Given the description of an element on the screen output the (x, y) to click on. 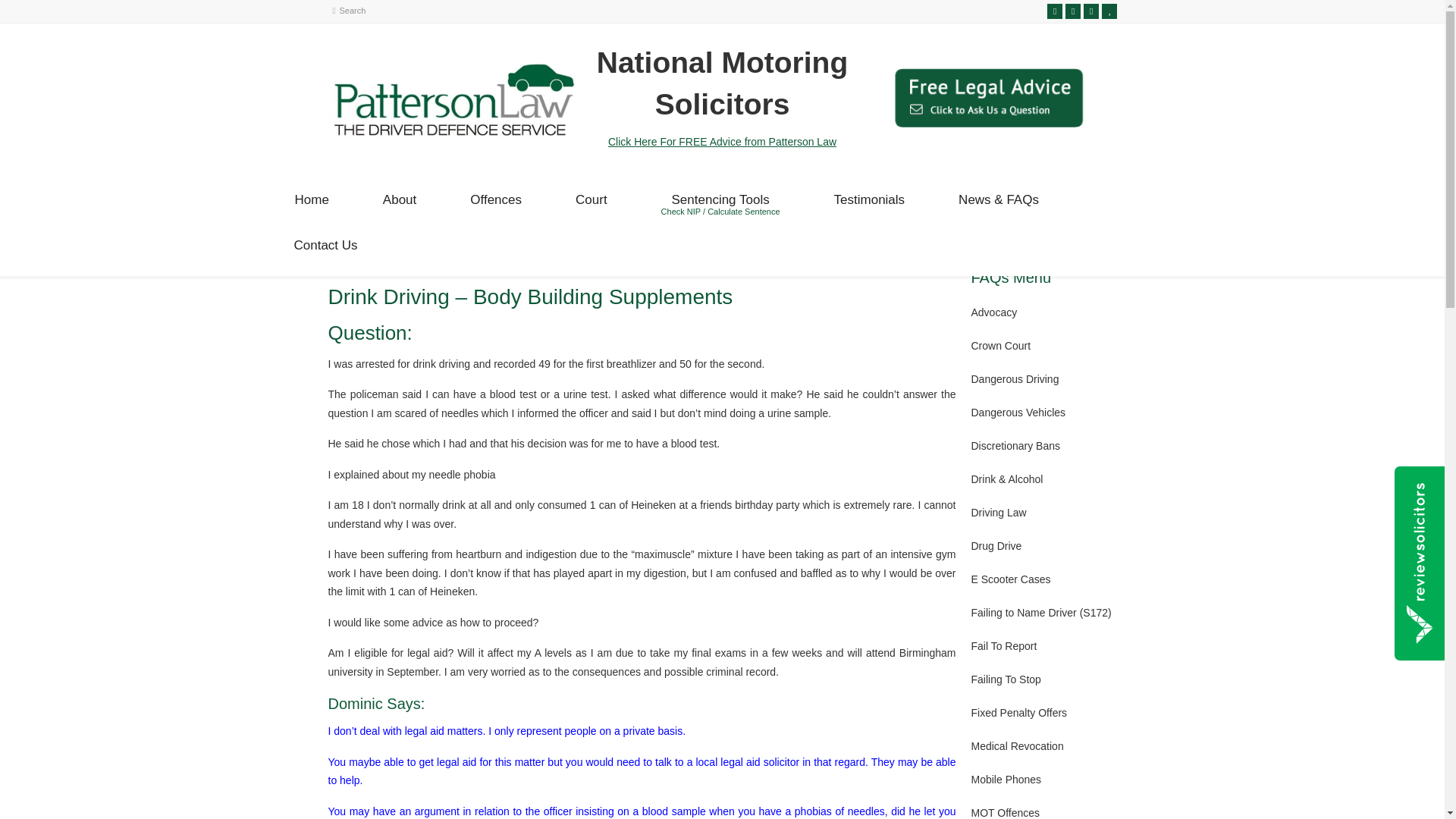
Facebook (399, 206)
Twitter (311, 206)
Patterson Law (1072, 11)
Linkedin (1053, 11)
Click Here For FREE Advice from Patterson Law (453, 133)
YouTube (1090, 11)
